Given the description of an element on the screen output the (x, y) to click on. 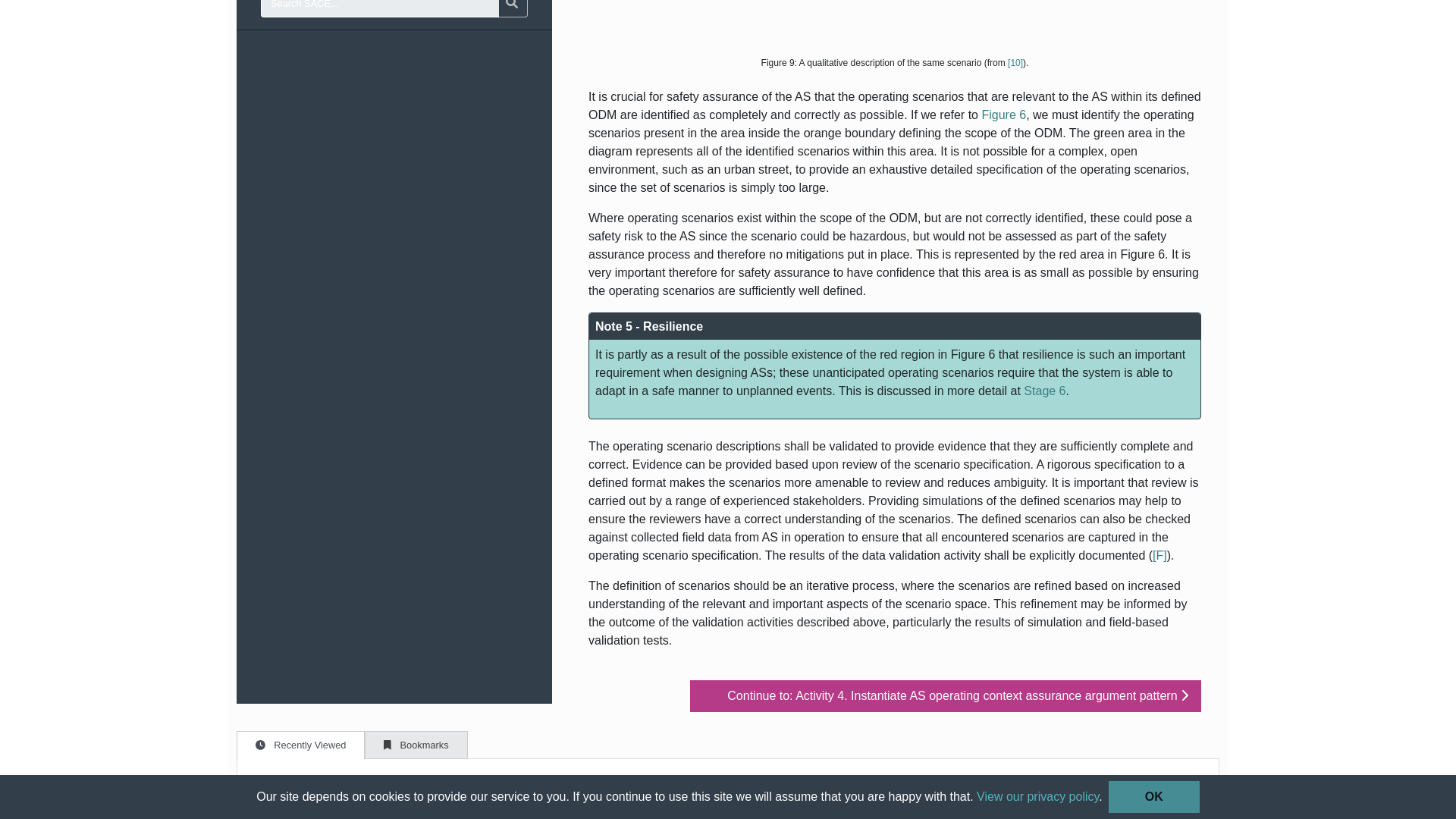
Stage: Hazardous failures management (1044, 390)
Activity: Define and validate the operating scenarios (1160, 554)
